Given the description of an element on the screen output the (x, y) to click on. 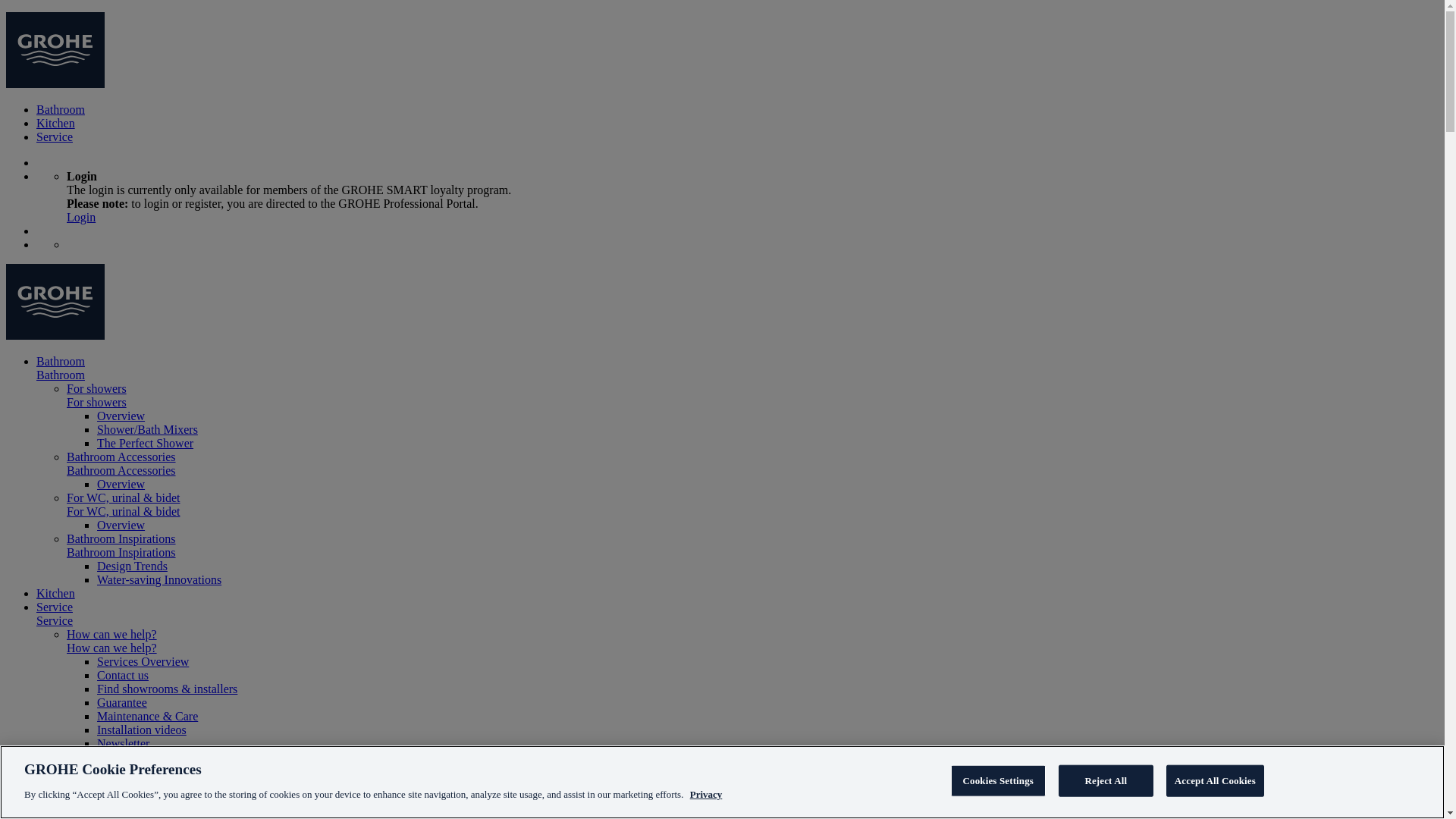
Brochures Element type: text (122, 811)
Overview Element type: text (120, 415)
For showers Element type: text (96, 401)
Water-saving Innovations Element type: text (159, 579)
Services Overview Element type: text (142, 661)
For WC, urinal & bidet Element type: text (122, 511)
Service Element type: text (54, 606)
Bathroom Element type: text (60, 360)
For WC, urinal & bidet Element type: text (122, 497)
Contact us Element type: text (122, 674)
Overview Element type: text (120, 524)
Overview Element type: text (120, 483)
For showers Element type: text (96, 388)
About GROHE Element type: text (103, 770)
Guarantee Element type: text (122, 702)
Design Trends Element type: text (132, 565)
Accept All Cookies Element type: text (1215, 781)
Bathroom Inspirations Element type: text (120, 538)
How can we help? Element type: text (111, 647)
About GROHE Element type: text (134, 784)
Maintenance & Care Element type: text (147, 715)
Newsletter Element type: text (123, 743)
How can we help? Element type: text (111, 633)
Bathroom Inspirations Element type: text (120, 552)
The Perfect Shower Element type: text (145, 442)
Reject All Element type: text (1105, 781)
Privacy Element type: text (706, 793)
Cookies Settings Element type: text (997, 781)
GROHE - Pure joy of water  Element type: hover (55, 335)
Shower/Bath Mixers Element type: text (147, 429)
Bathroom Element type: text (60, 374)
GROHE Brand Values Element type: text (152, 797)
Service Element type: text (54, 620)
Installation videos Element type: text (141, 729)
Service Element type: text (54, 136)
Bathroom Element type: text (60, 109)
Kitchen Element type: text (55, 122)
GROHE - Pure joy of water  Element type: hover (55, 83)
About GROHE Element type: text (103, 756)
Kitchen Element type: text (55, 592)
Bathroom Accessories Element type: text (120, 456)
Login Element type: text (80, 216)
Bathroom Accessories Element type: text (120, 470)
Find showrooms & installers Element type: text (167, 688)
